Given the description of an element on the screen output the (x, y) to click on. 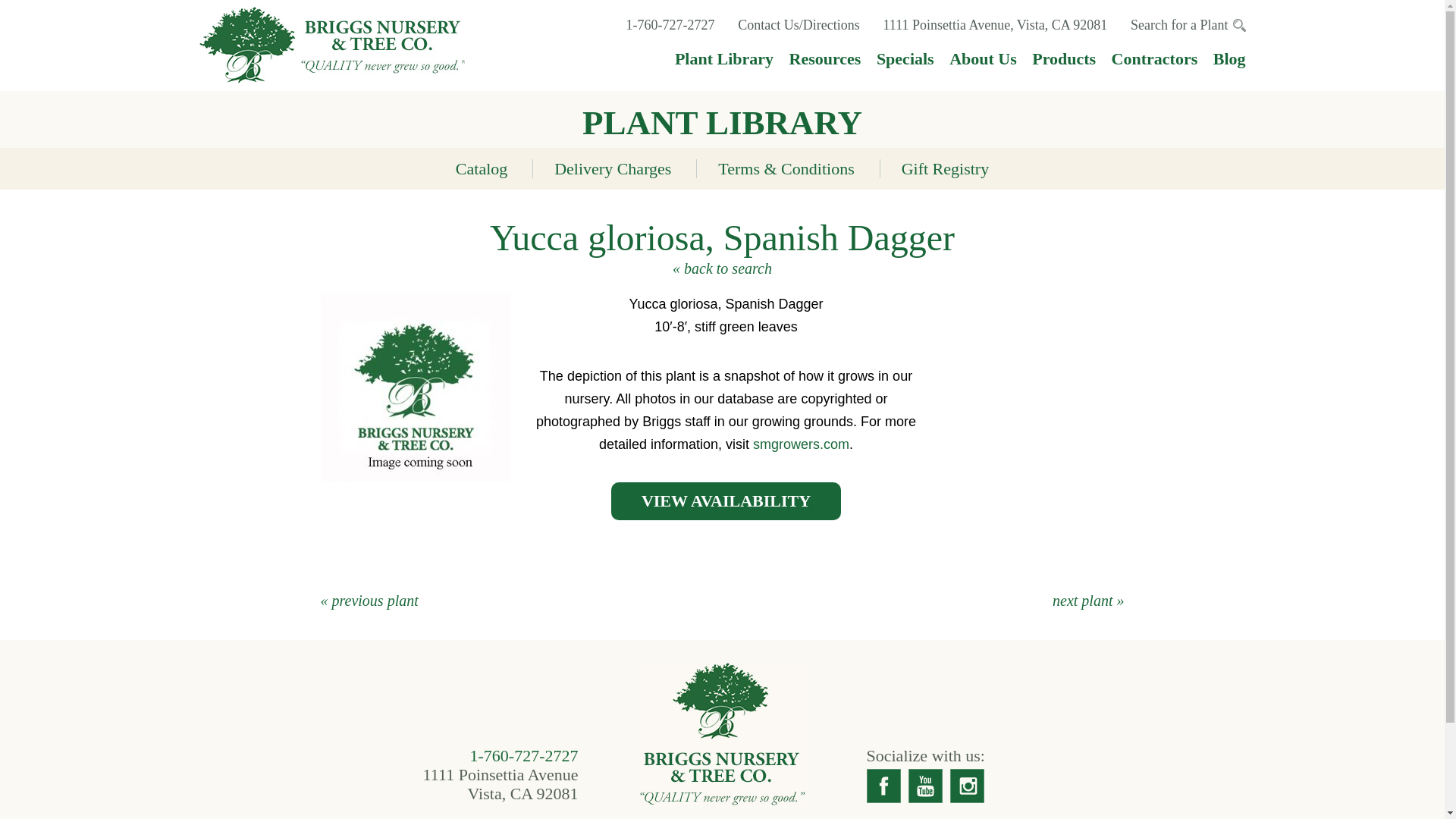
Catalog (480, 168)
PLANT LIBRARY (721, 122)
Gift Registry (945, 168)
VIEW AVAILABILITY (726, 501)
Delivery Charges (612, 168)
1-760-727-2727 (524, 755)
smgrowers.com (800, 444)
Plant Library (724, 58)
Specials (905, 58)
Products (1064, 58)
1-760-727-2727 (670, 24)
Blog (1229, 58)
Resources (824, 58)
1111 Poinsettia Avenue, Vista, CA 92081 (995, 24)
Contractors (1155, 58)
